Given the description of an element on the screen output the (x, y) to click on. 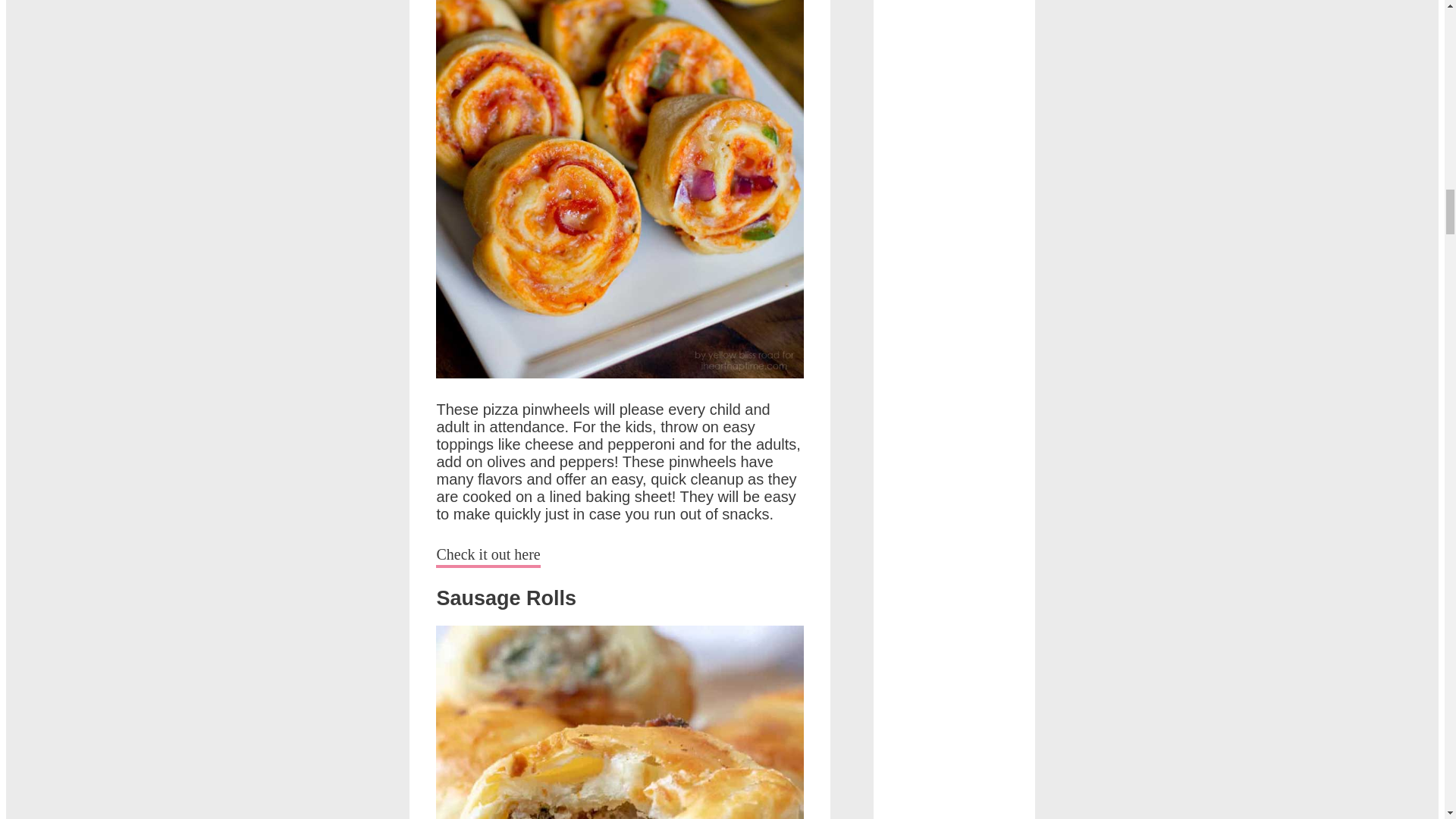
Check it out here (487, 557)
